Given the description of an element on the screen output the (x, y) to click on. 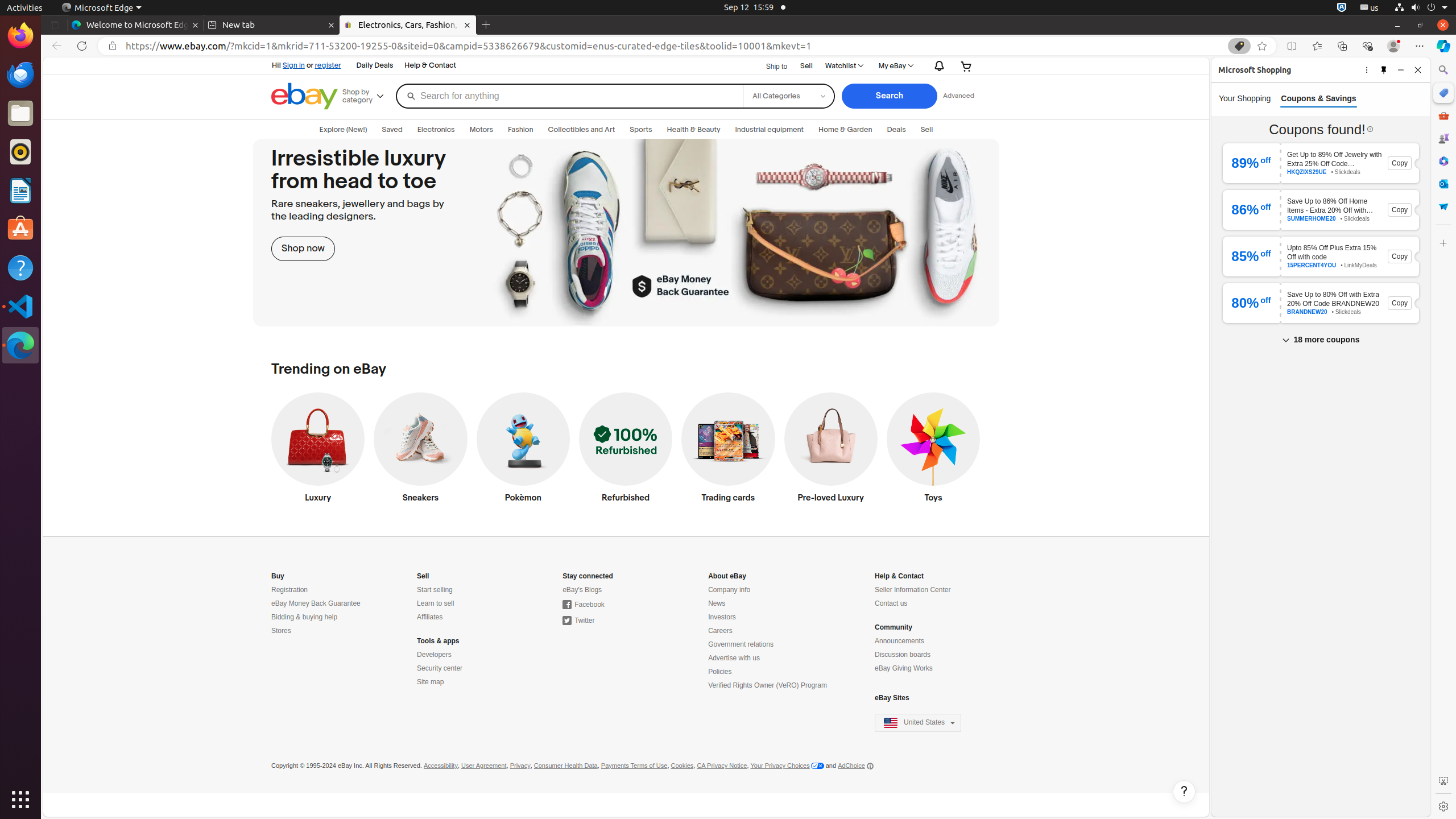
Files Element type: push-button (20, 113)
CA Privacy Notice Element type: link (721, 765)
Your Privacy Choices Element type: link (787, 765)
Browser essentials Element type: push-button (1366, 45)
Your Shopping Element type: page-tab (1244, 98)
